Given the description of an element on the screen output the (x, y) to click on. 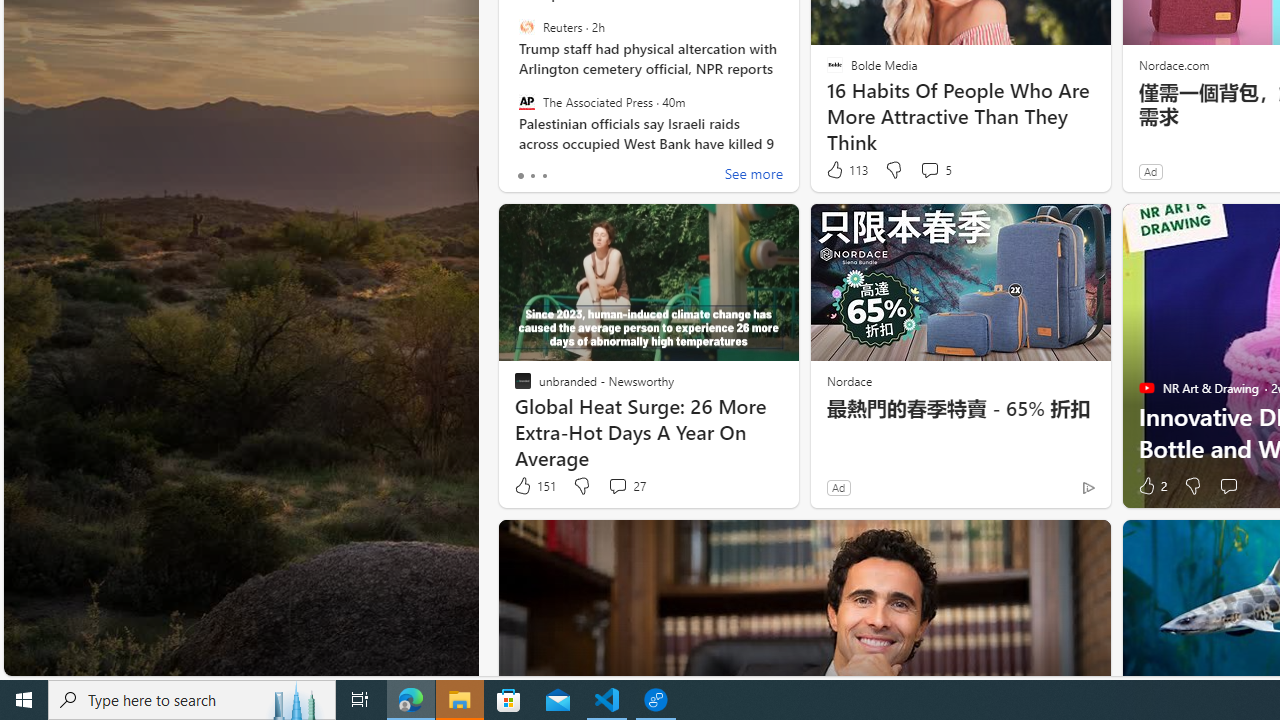
View comments 5 Comment (929, 169)
Reuters (526, 27)
View comments 27 Comment (626, 485)
2 Like (1151, 485)
The Associated Press (526, 101)
113 Like (845, 170)
tab-2 (543, 175)
